Given the description of an element on the screen output the (x, y) to click on. 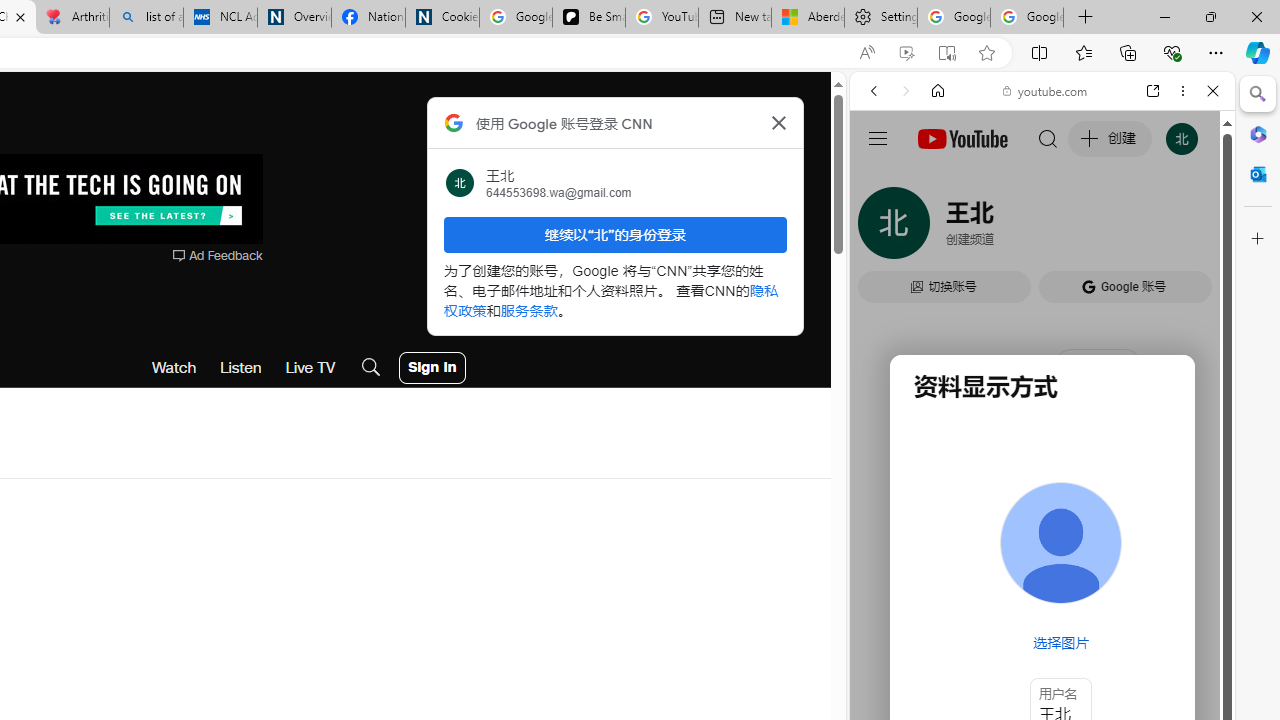
Search Icon (371, 367)
Search Filter, VIDEOS (1006, 228)
Web scope (882, 180)
Search the web (1051, 137)
User Account Log In Button (432, 367)
Music (1042, 543)
Google (1042, 494)
Watch (174, 367)
